Given the description of an element on the screen output the (x, y) to click on. 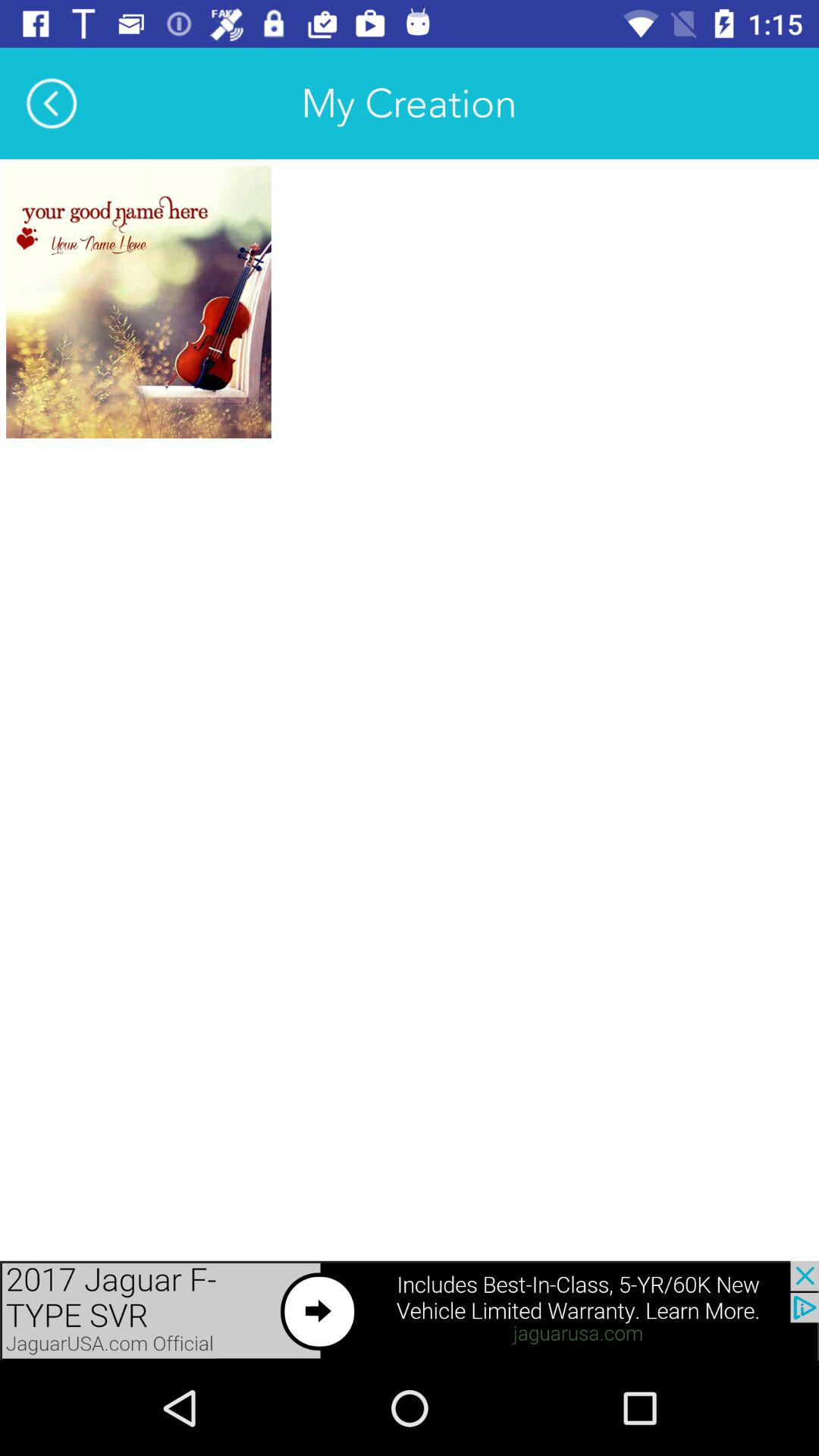
enter name (138, 301)
